Given the description of an element on the screen output the (x, y) to click on. 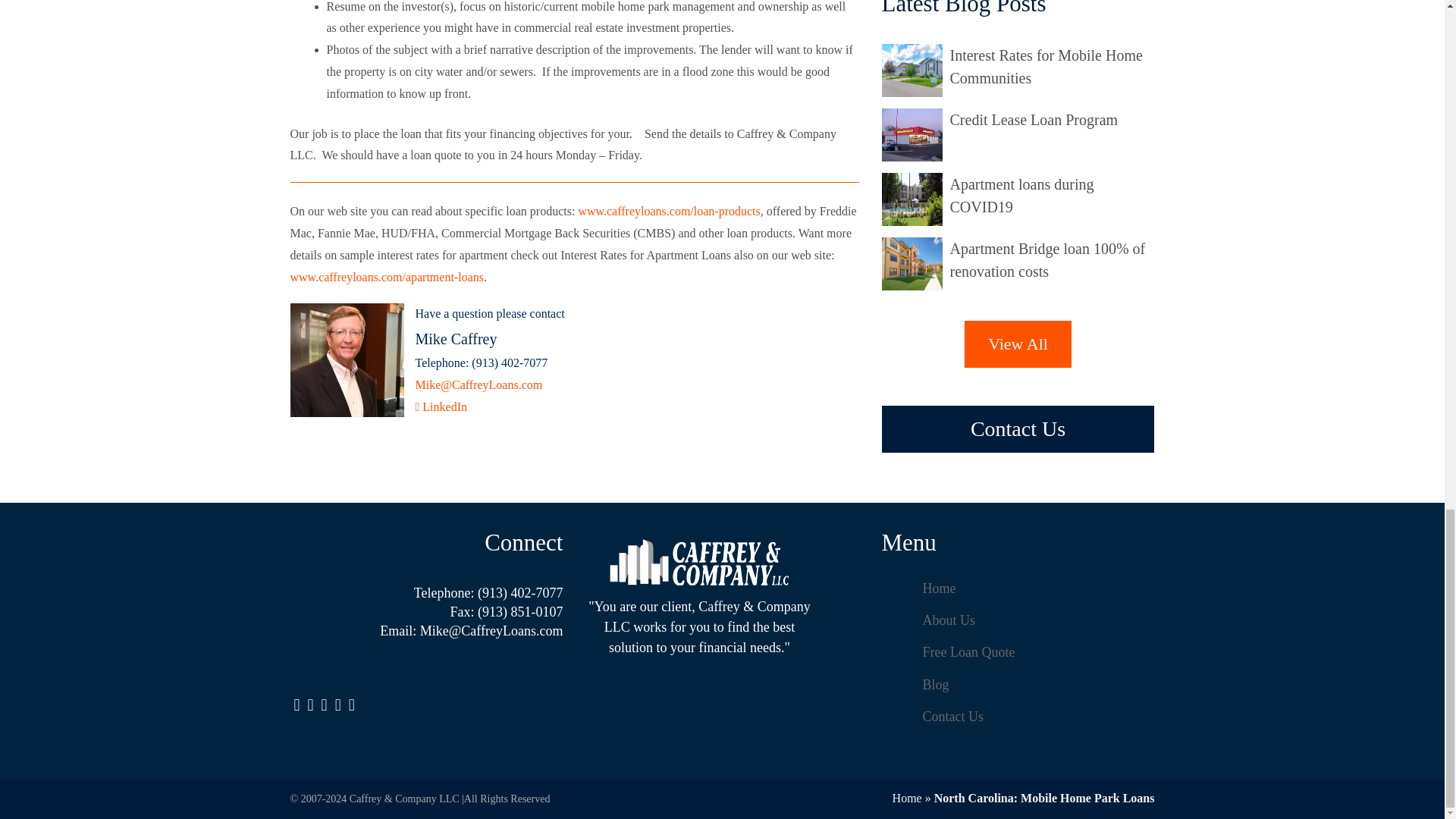
Apartment loans during COVID19 (1021, 195)
 Latest Blog Posts (914, 70)
Credit Lease Loan Program (1033, 119)
 Latest Blog Posts (914, 263)
LinkedIn (440, 406)
Credit Lease Loan Program (1033, 119)
 Latest Blog Posts (914, 134)
 Latest Blog Posts (914, 199)
Interest Rates for Mobile Home Communities (1045, 66)
Apartment loans during COVID19 (1021, 195)
Interest Rates for Mobile Home Communities (1045, 66)
